Given the description of an element on the screen output the (x, y) to click on. 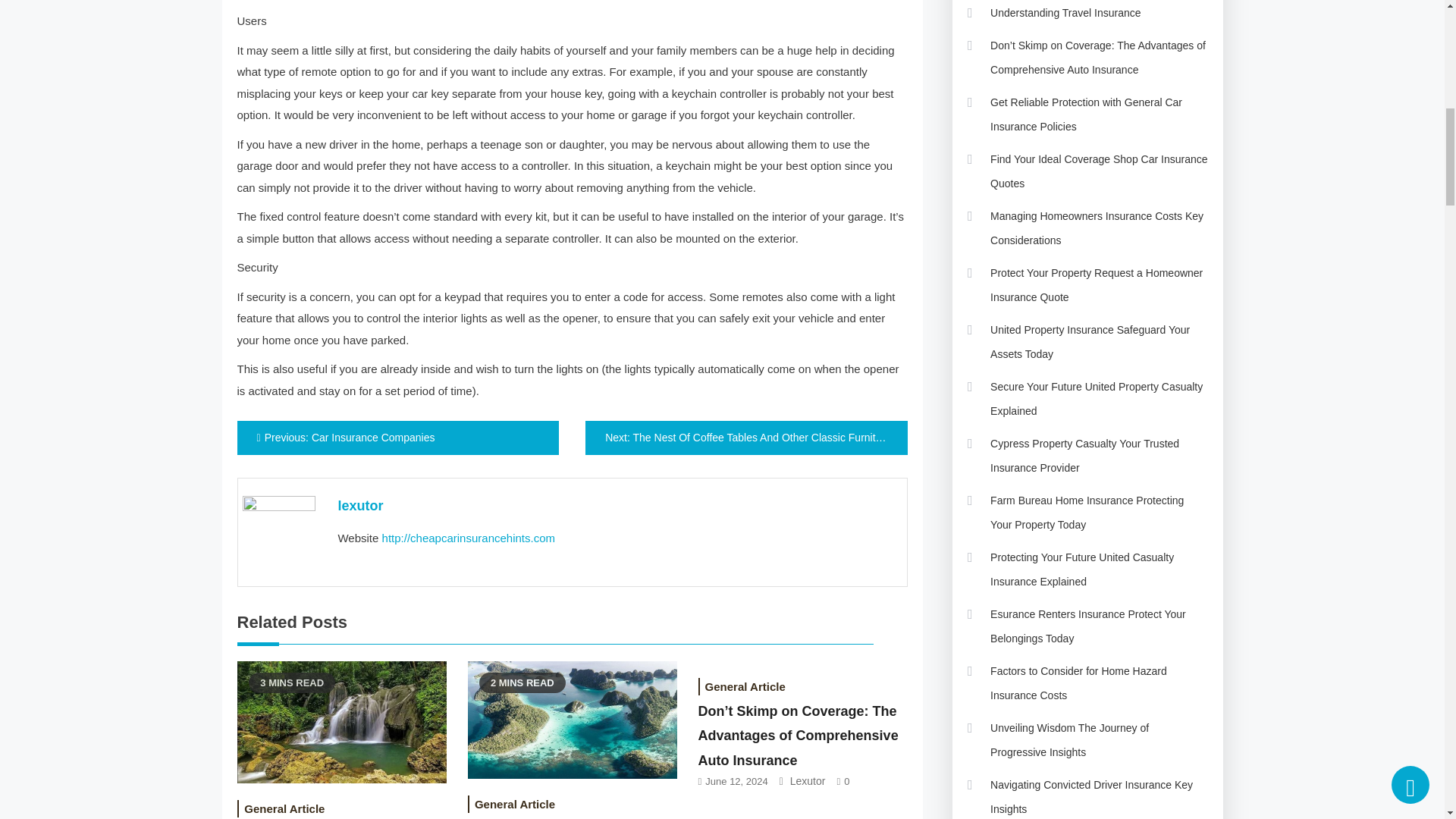
Posts by lexutor (359, 505)
